Given the description of an element on the screen output the (x, y) to click on. 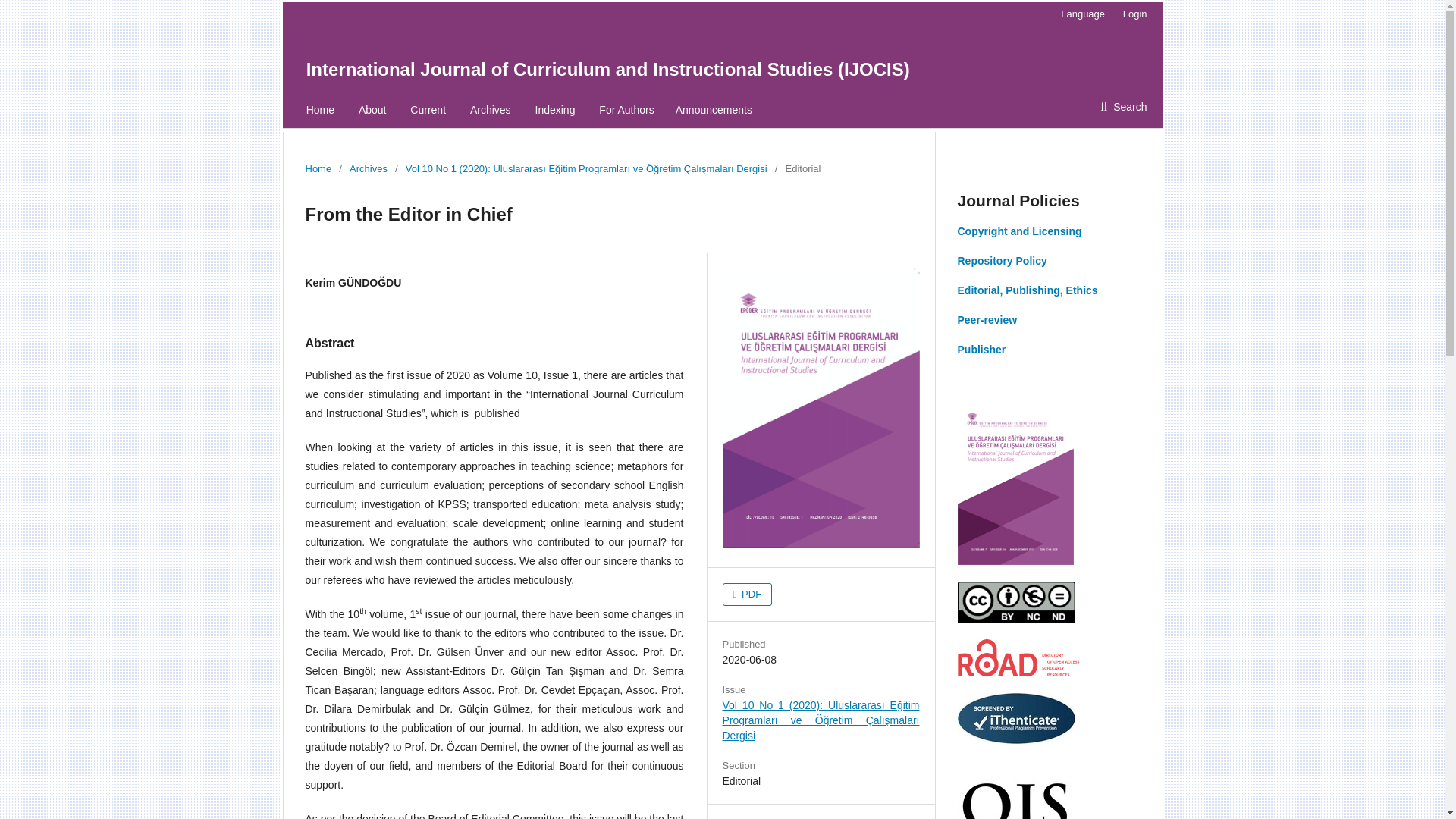
Language (1082, 14)
Login (1131, 14)
ROAD (1018, 672)
Creative-Commons (1015, 618)
Announcements (713, 110)
About (372, 110)
Home (317, 168)
Archives (368, 168)
Search (1122, 106)
Archives (490, 110)
PDF (746, 594)
Indexing (555, 110)
Home (319, 110)
Repository (1001, 260)
For Authors (625, 110)
